Given the description of an element on the screen output the (x, y) to click on. 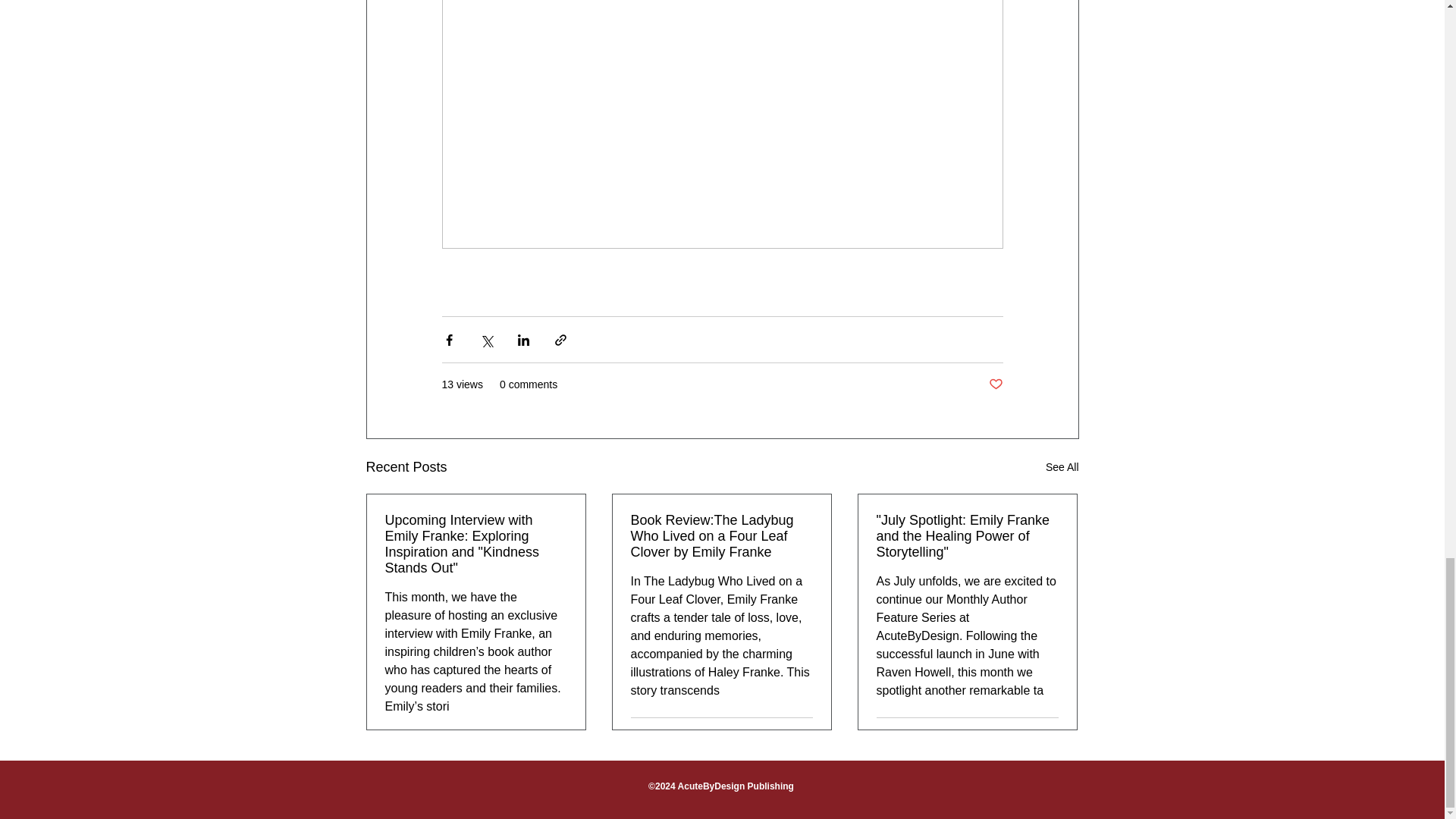
Post not marked as liked (995, 384)
Post not marked as liked (804, 736)
Post not marked as liked (1050, 736)
See All (1061, 467)
